Given the description of an element on the screen output the (x, y) to click on. 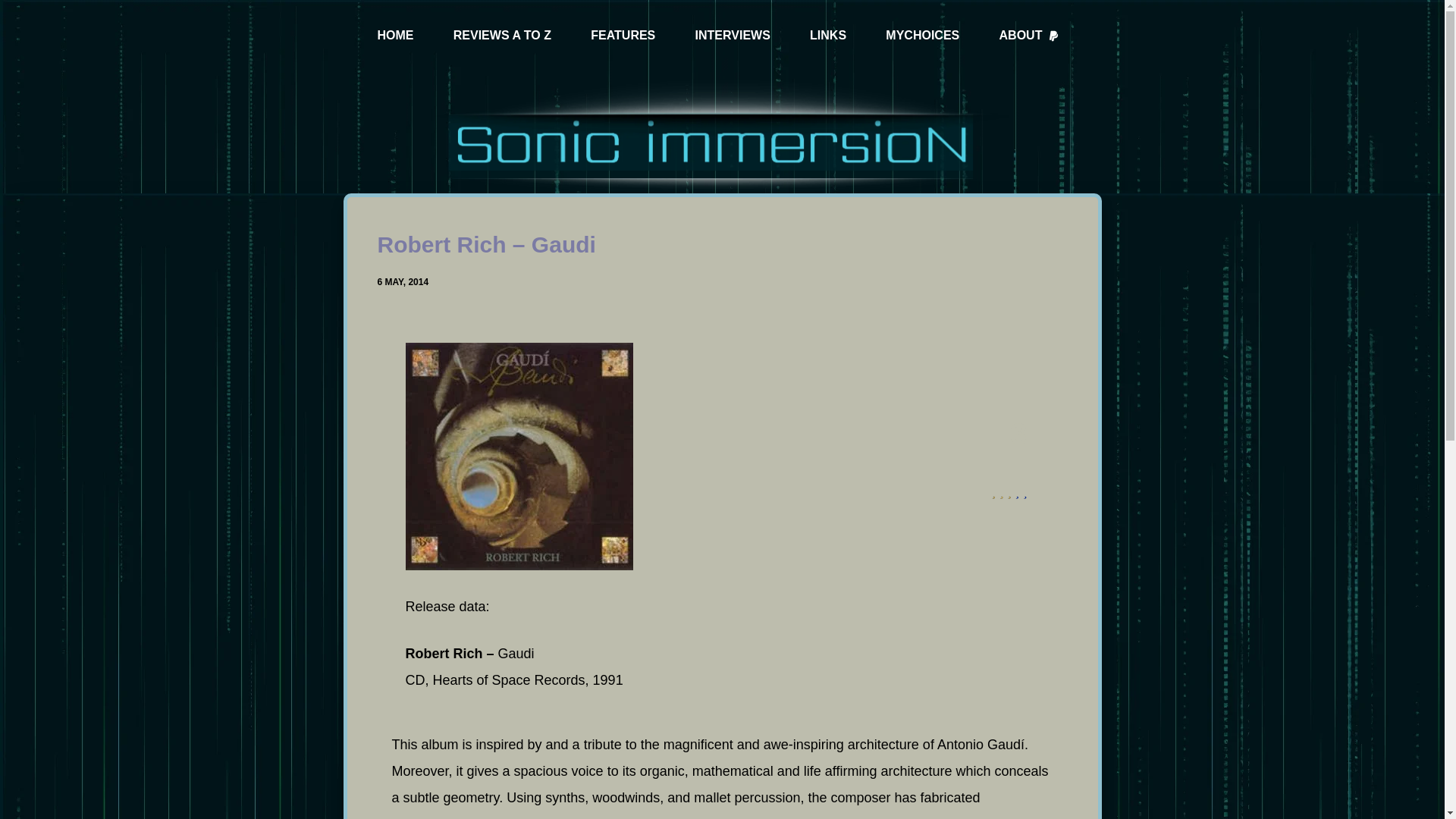
CreativeThemes (774, 793)
INTERVIEWS (732, 36)
Skip to content (15, 7)
MYCHOICES (921, 36)
HOME (395, 36)
REVIEWS A TO Z (502, 36)
LINKS (827, 36)
ABOUT (1029, 36)
FEATURES (622, 36)
